Given the description of an element on the screen output the (x, y) to click on. 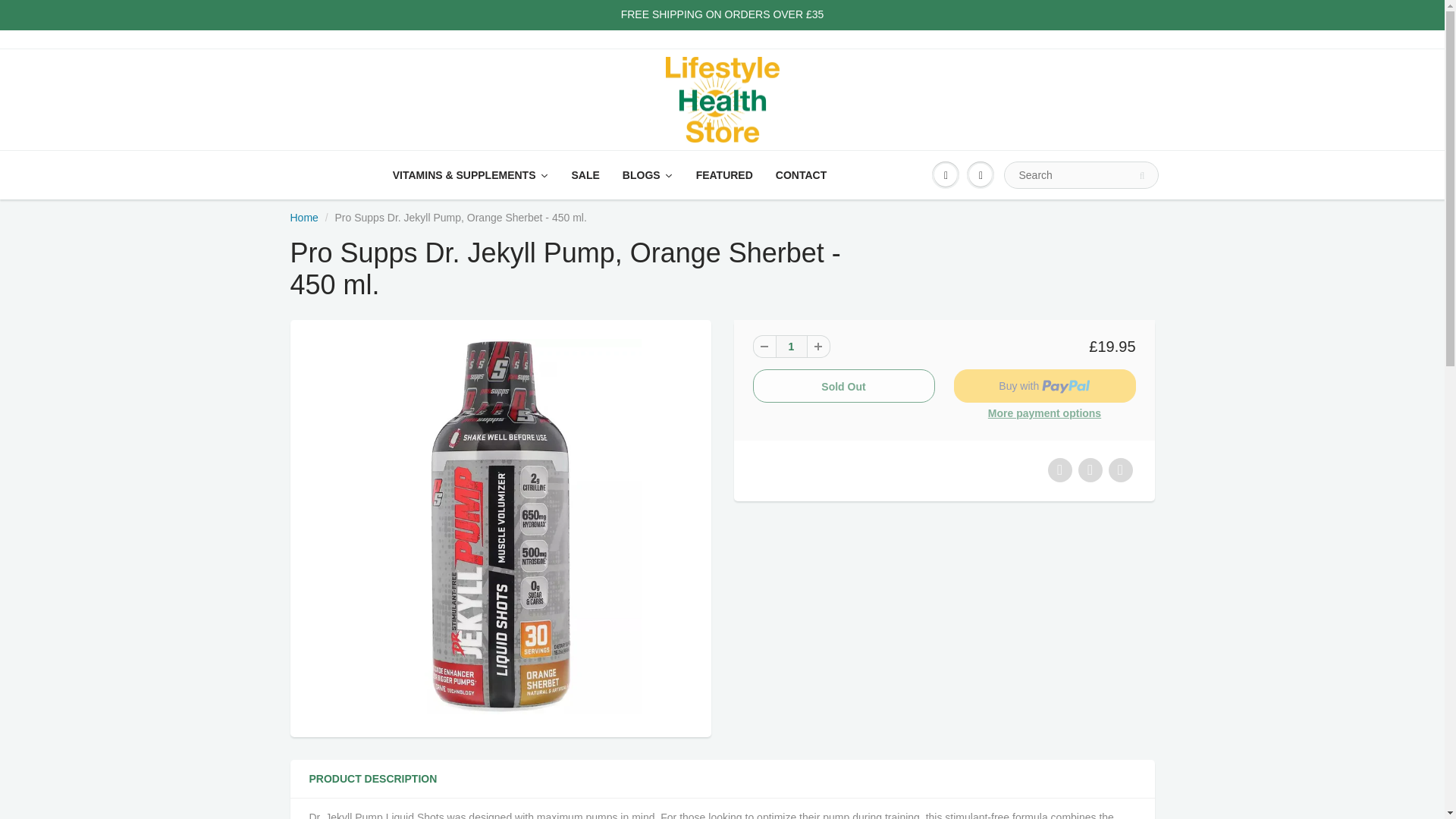
Featured (724, 175)
Blogs (647, 175)
More payment options (1044, 413)
SALE (585, 175)
Sold Out (843, 385)
Sold Out (843, 385)
CONTACT (801, 175)
Home (303, 217)
FEATURED (724, 175)
1 (790, 345)
